Given the description of an element on the screen output the (x, y) to click on. 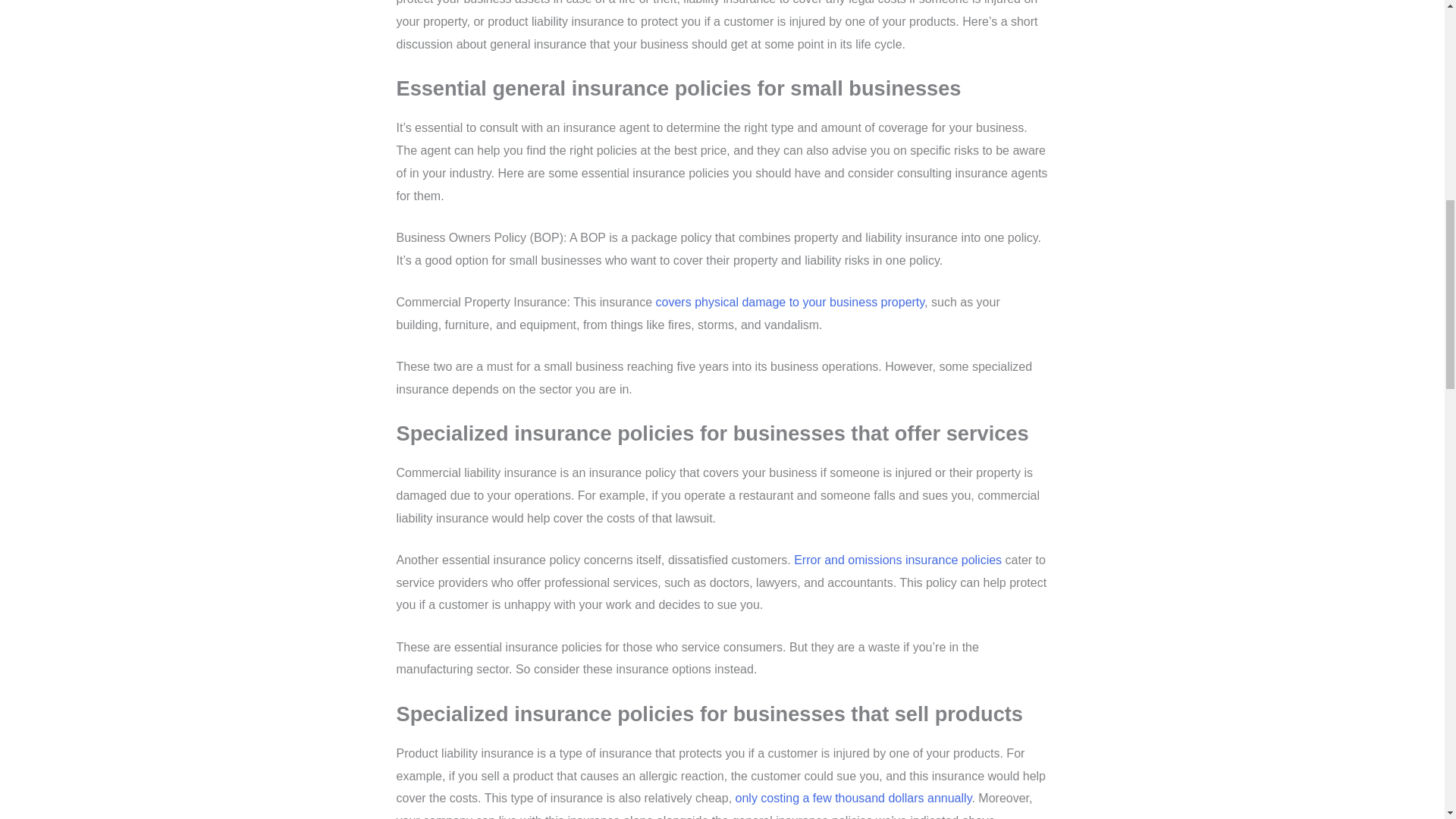
only costing a few thousand dollars annually (851, 797)
Error and omissions insurance policies (897, 559)
covers physical damage to your business property (790, 301)
